Given the description of an element on the screen output the (x, y) to click on. 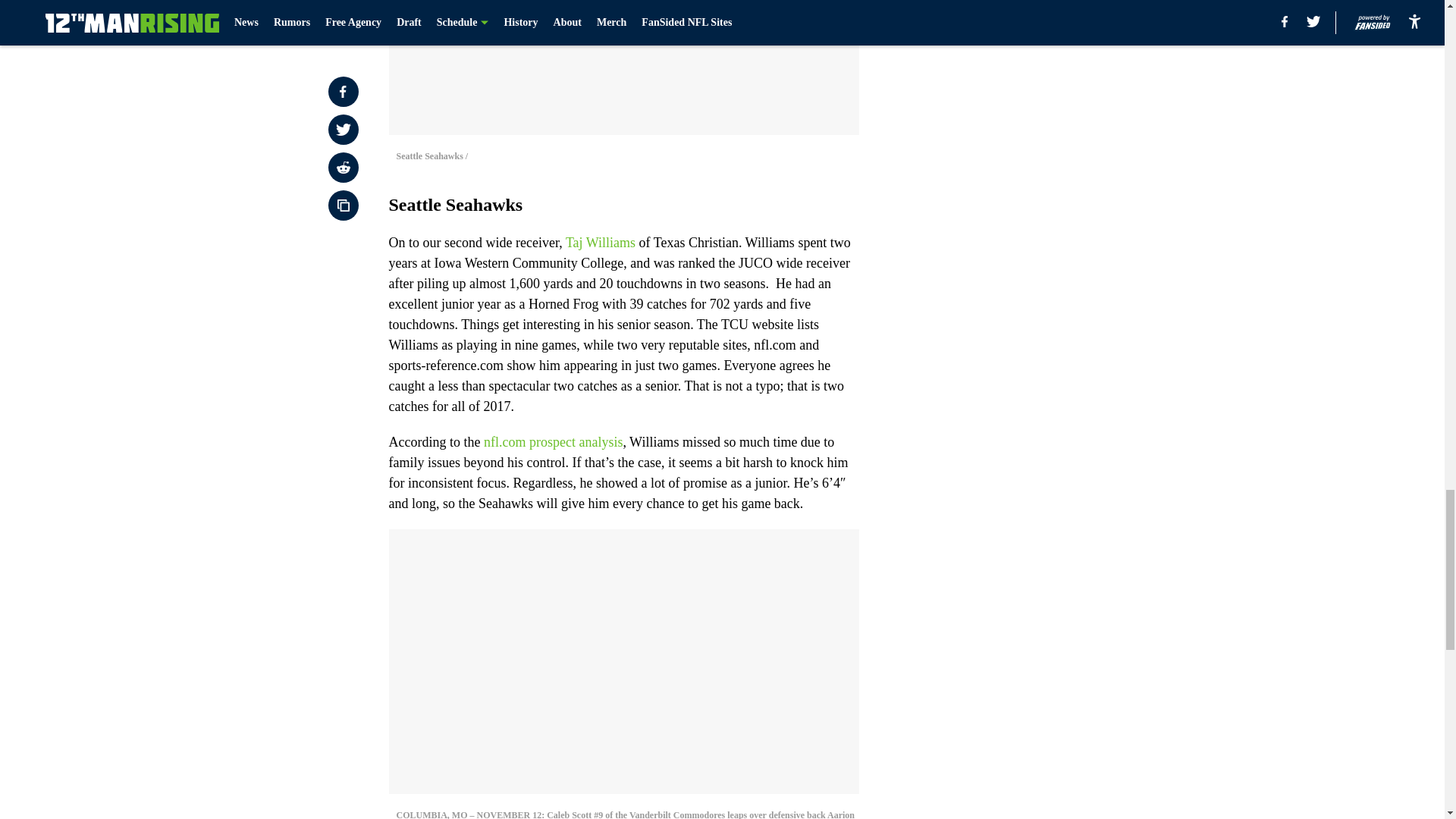
nfl.com prospect analysis (553, 441)
Taj Williams (600, 242)
